Given the description of an element on the screen output the (x, y) to click on. 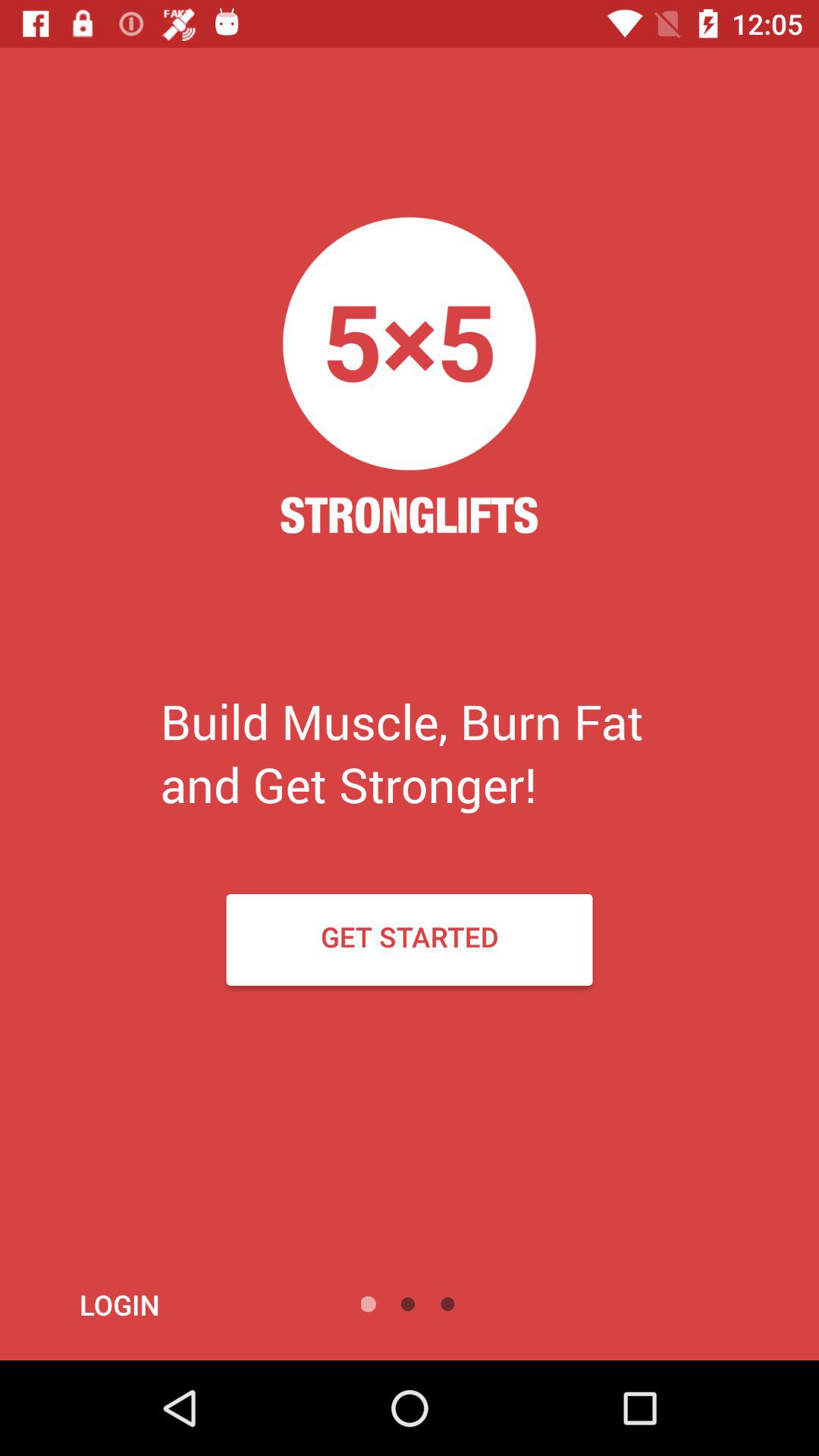
launch the icon above the login (409, 939)
